Given the description of an element on the screen output the (x, y) to click on. 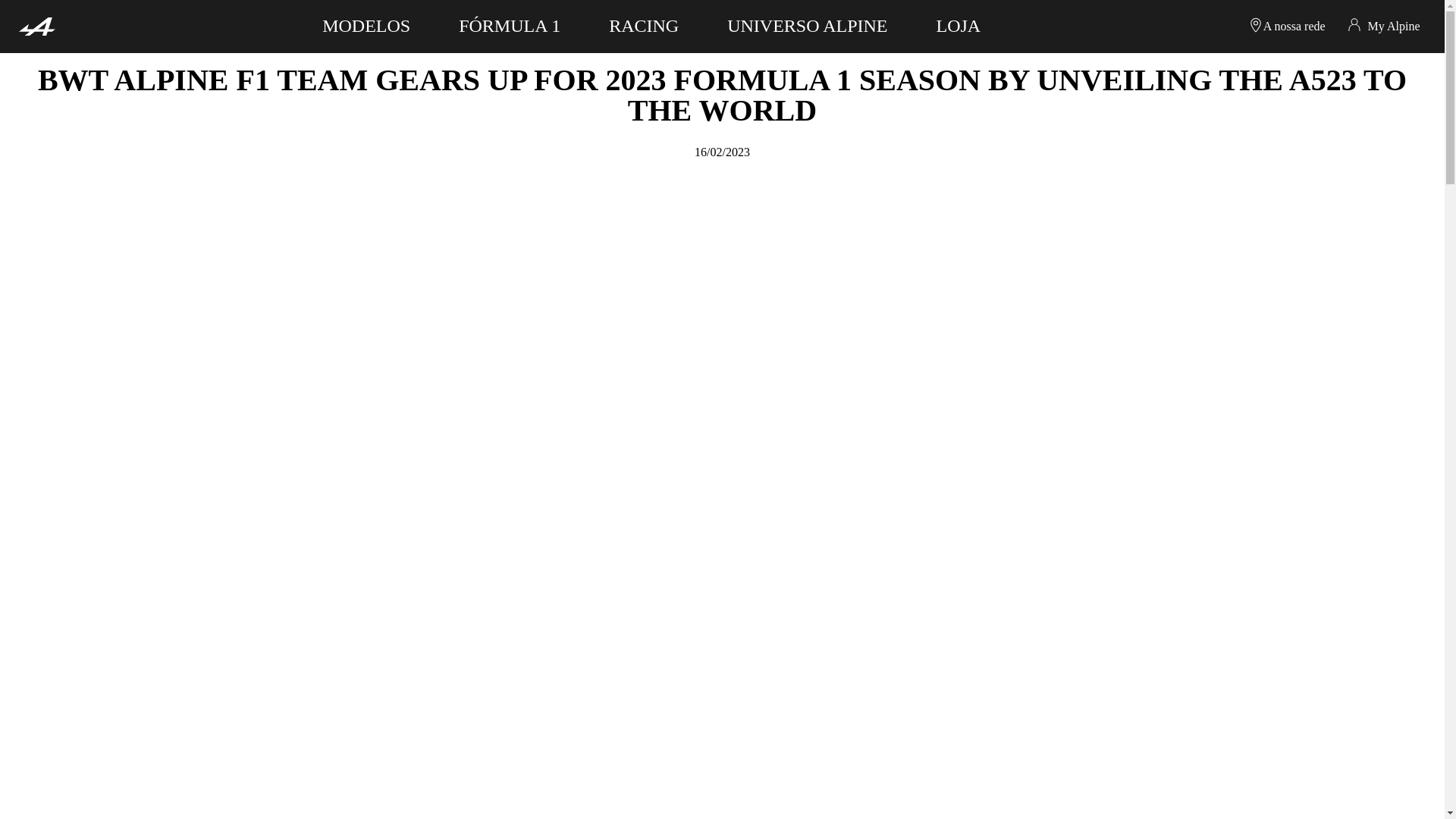
MODELOS (365, 24)
UNIVERSO ALPINE (806, 24)
Alpine (36, 26)
MODELOS (365, 24)
RACING (643, 24)
